Given the description of an element on the screen output the (x, y) to click on. 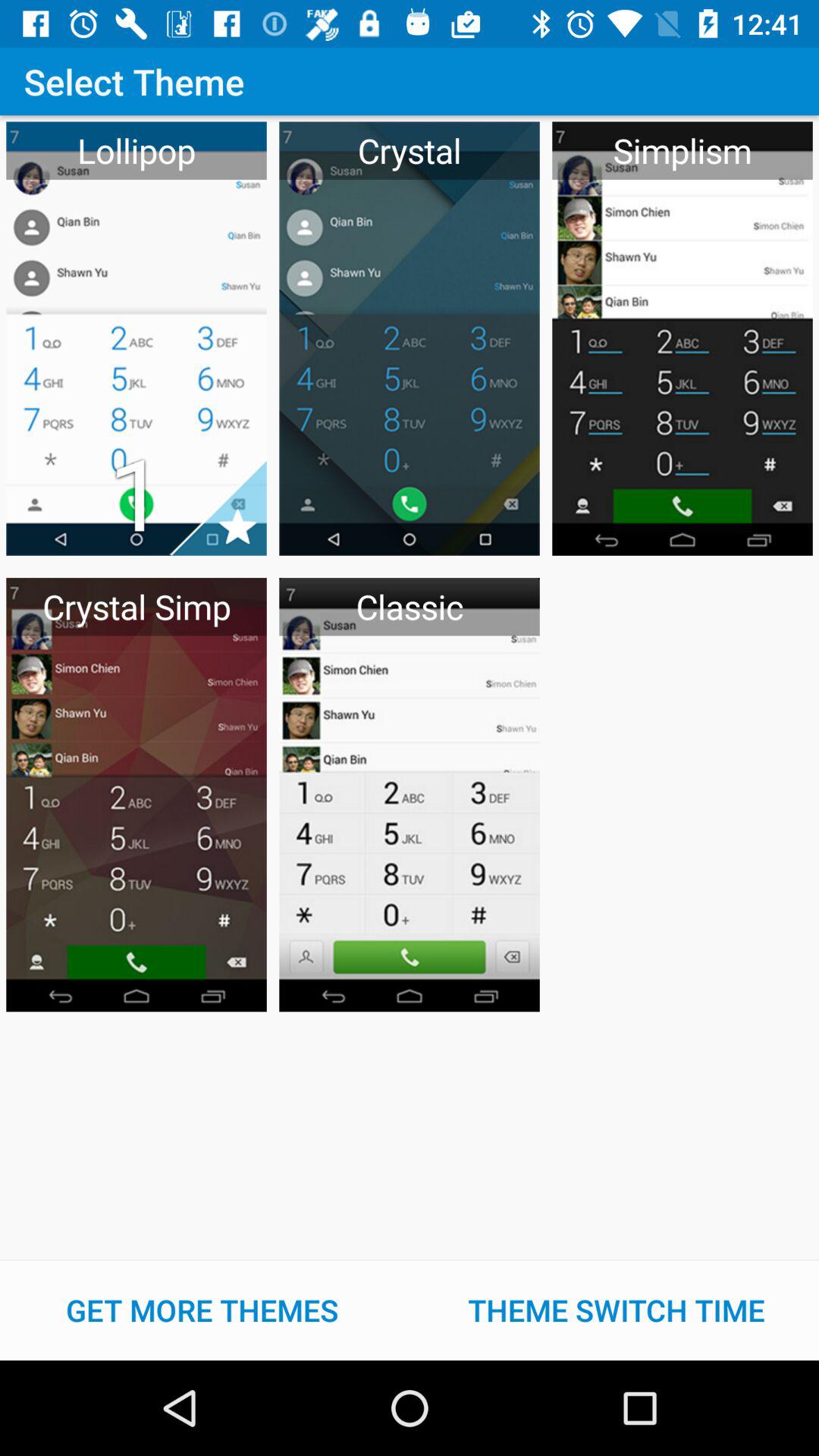
turn off the theme switch time (616, 1310)
